Given the description of an element on the screen output the (x, y) to click on. 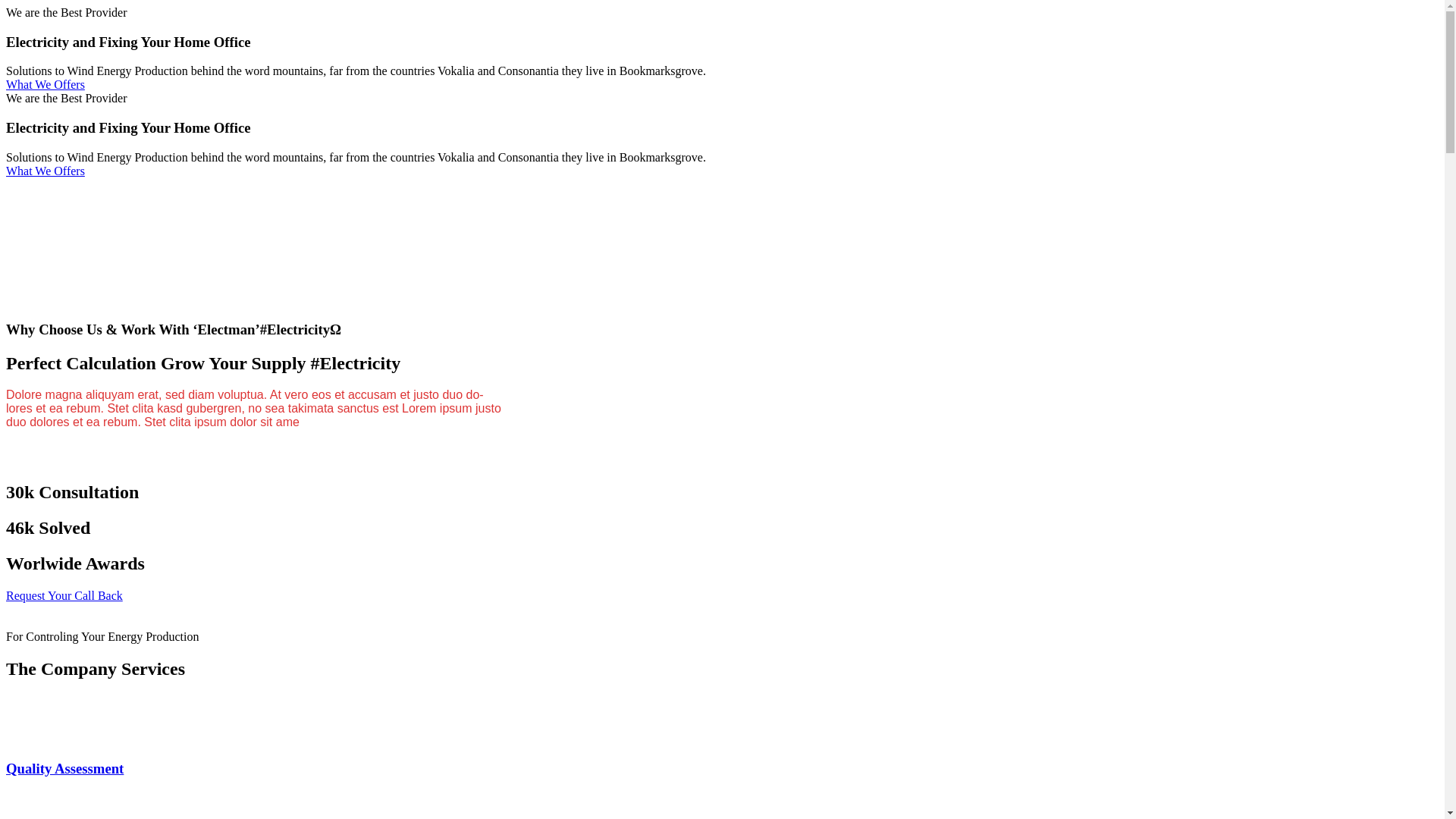
Quality Assessment Element type: text (64, 768)
Request Your Call Back Element type: text (64, 595)
What We Offers Element type: text (722, 84)
What We Offers Element type: text (722, 171)
